Given the description of an element on the screen output the (x, y) to click on. 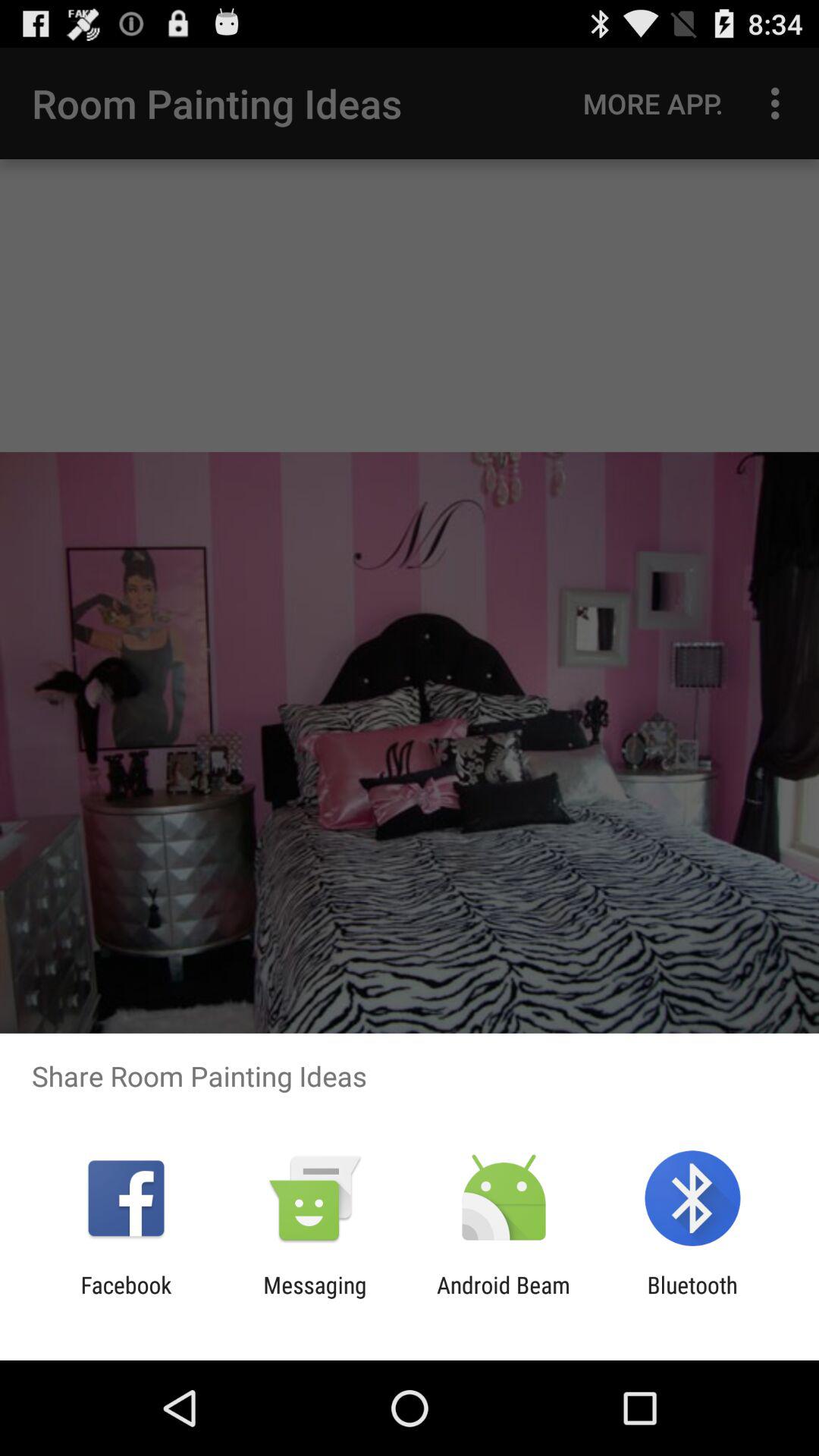
choose the app to the right of facebook (314, 1298)
